Given the description of an element on the screen output the (x, y) to click on. 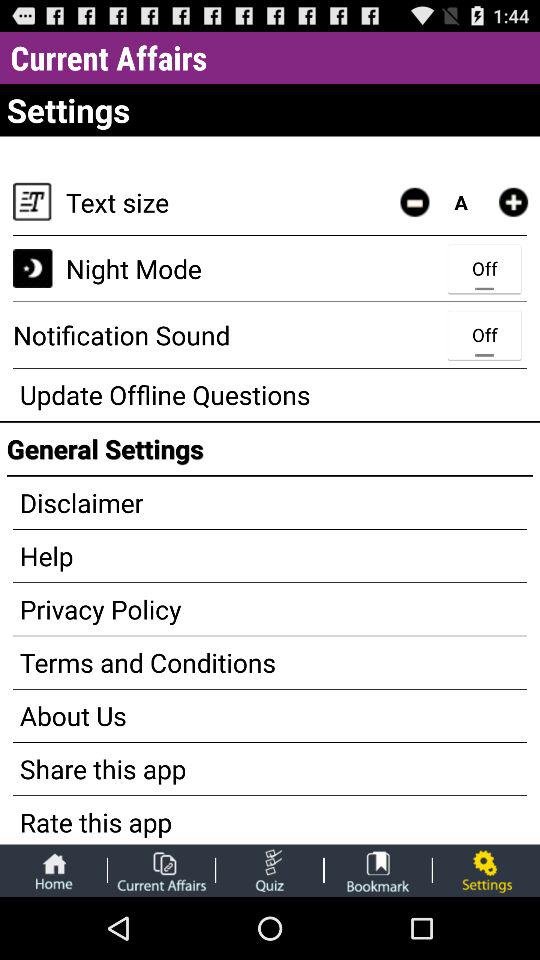
turn off the app to the left of the a (414, 202)
